Given the description of an element on the screen output the (x, y) to click on. 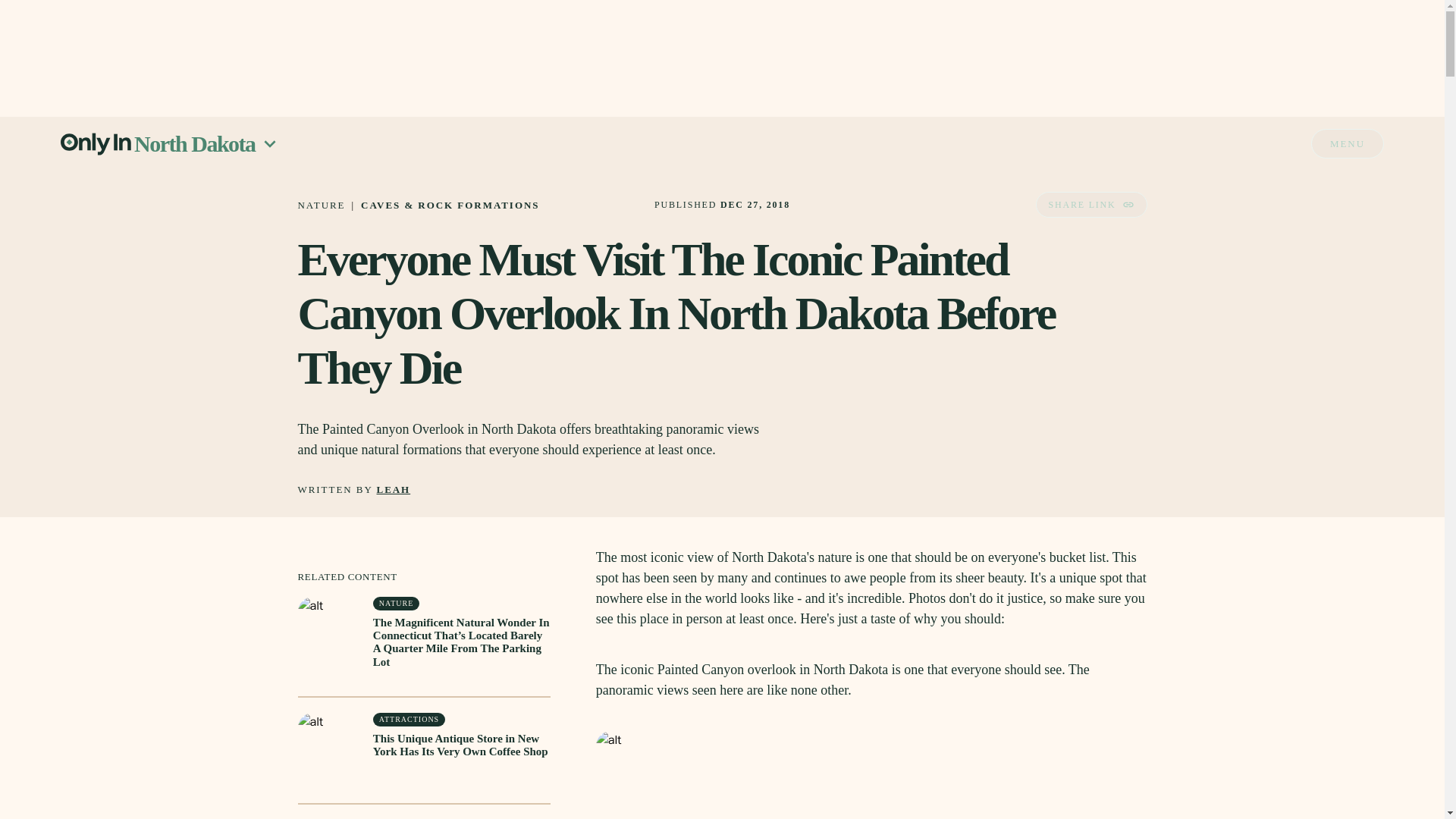
LEAH (393, 490)
SHARE LINK (1091, 204)
NATURE (321, 204)
MENU (1347, 143)
